Given the description of an element on the screen output the (x, y) to click on. 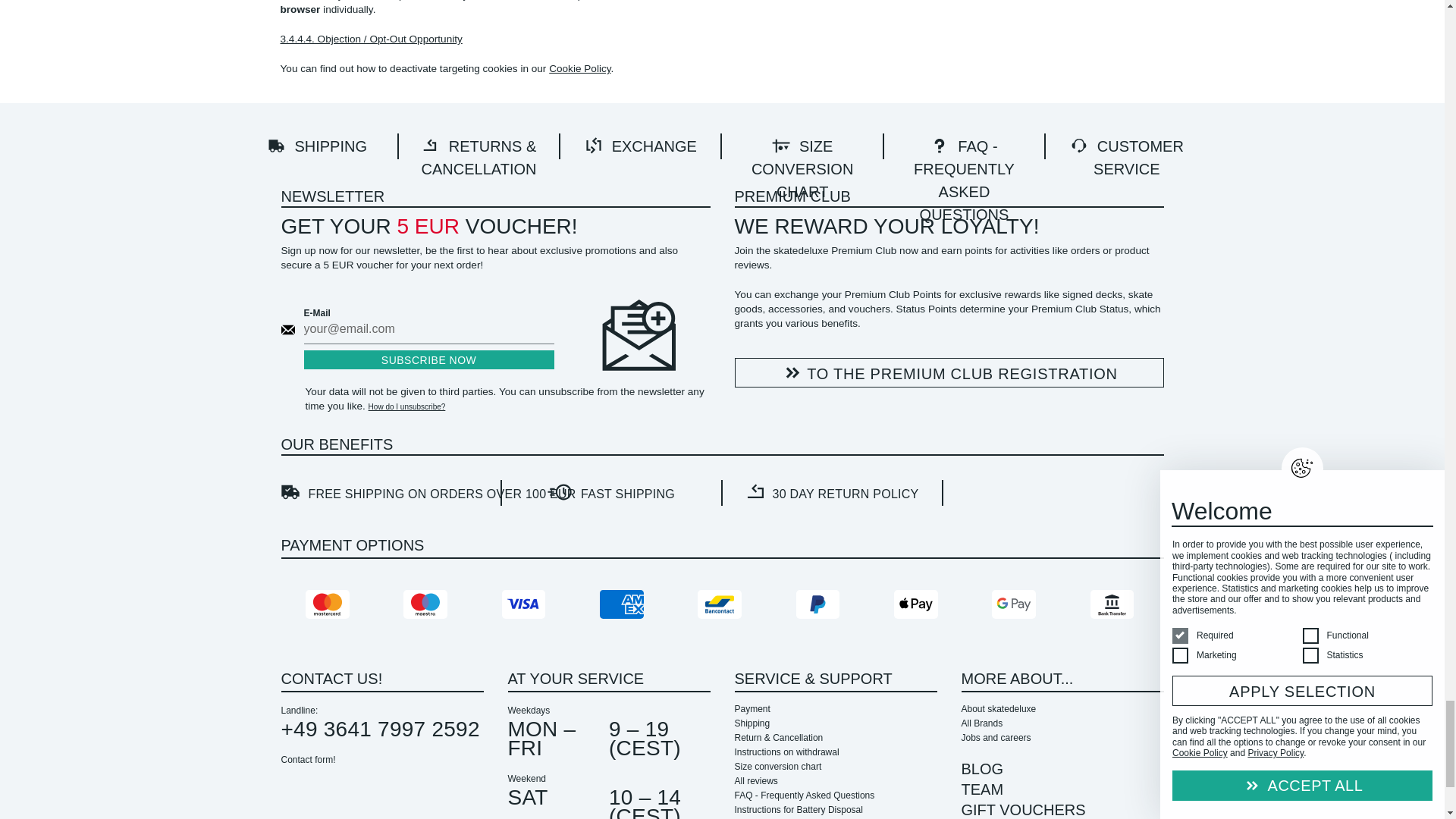
FREE SHIPPING ON ORDERS OVER 100 EUR (390, 491)
FREE SHIPPING ON ORDERS OVER 100 EUR (390, 492)
fastest Skateshop (611, 491)
Maestro (427, 604)
30 DAY RETURN POLICY (832, 492)
FAST SHIPPING (612, 492)
Mastercard (329, 604)
